Given the description of an element on the screen output the (x, y) to click on. 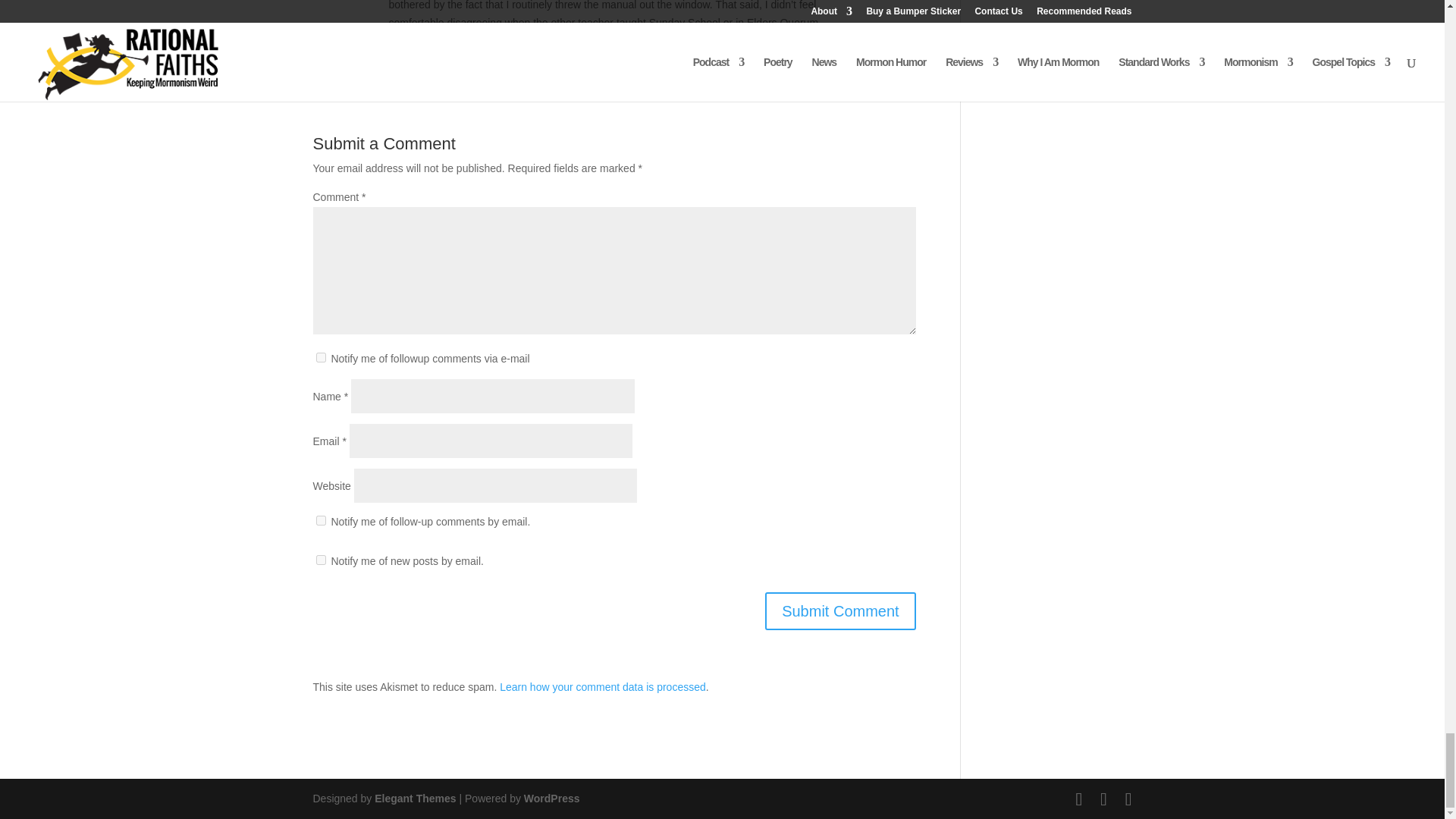
Submit Comment (840, 610)
subscribe (319, 560)
subscribe (319, 357)
subscribe (319, 520)
Premium WordPress Themes (414, 798)
